Given the description of an element on the screen output the (x, y) to click on. 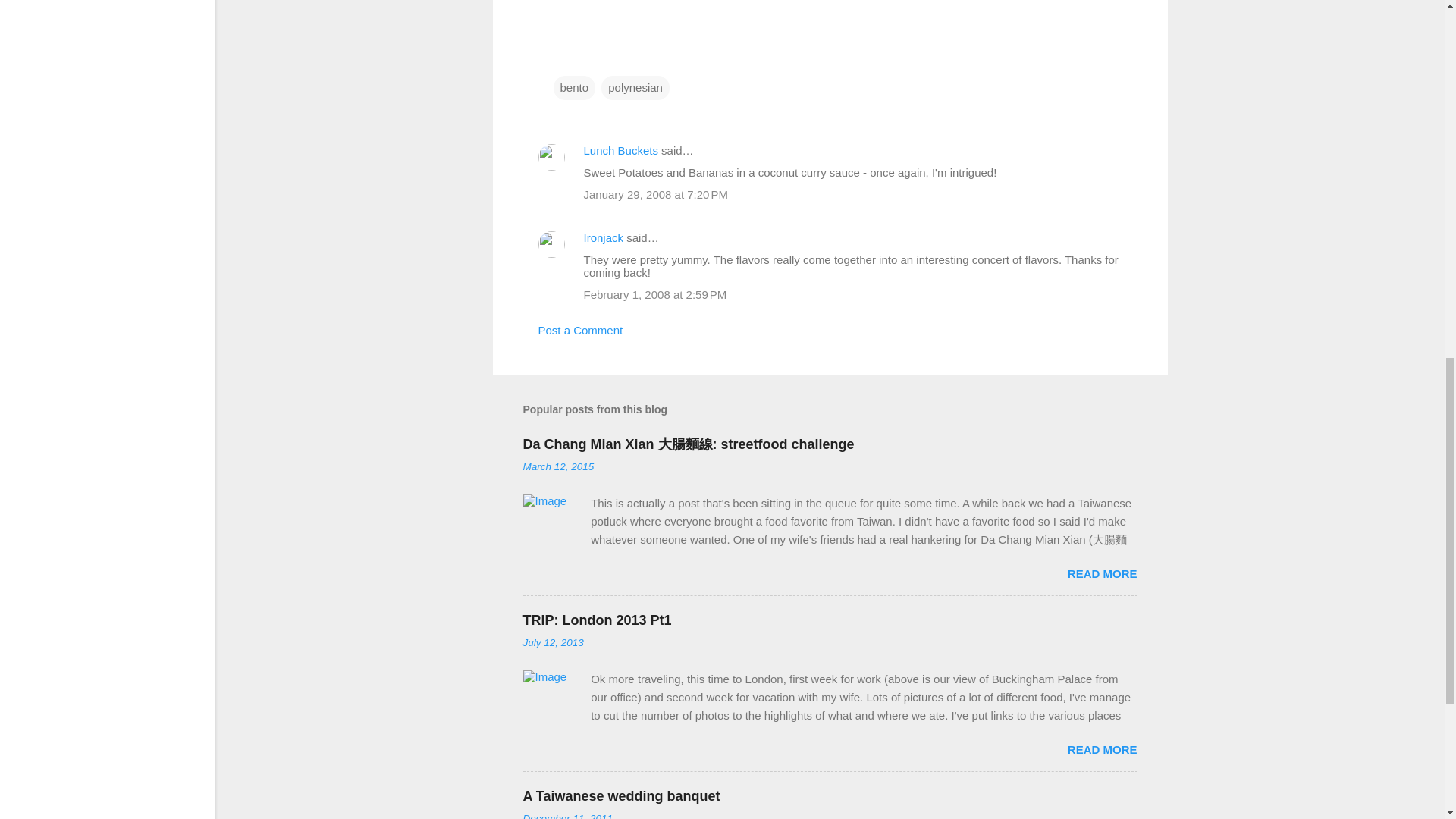
READ MORE (1102, 748)
polynesian (635, 87)
Lunch Buckets (620, 150)
March 12, 2015 (558, 466)
READ MORE (1102, 573)
TRIP: London 2013 Pt1 (596, 620)
December 11, 2011 (567, 816)
comment permalink (656, 194)
